Given the description of an element on the screen output the (x, y) to click on. 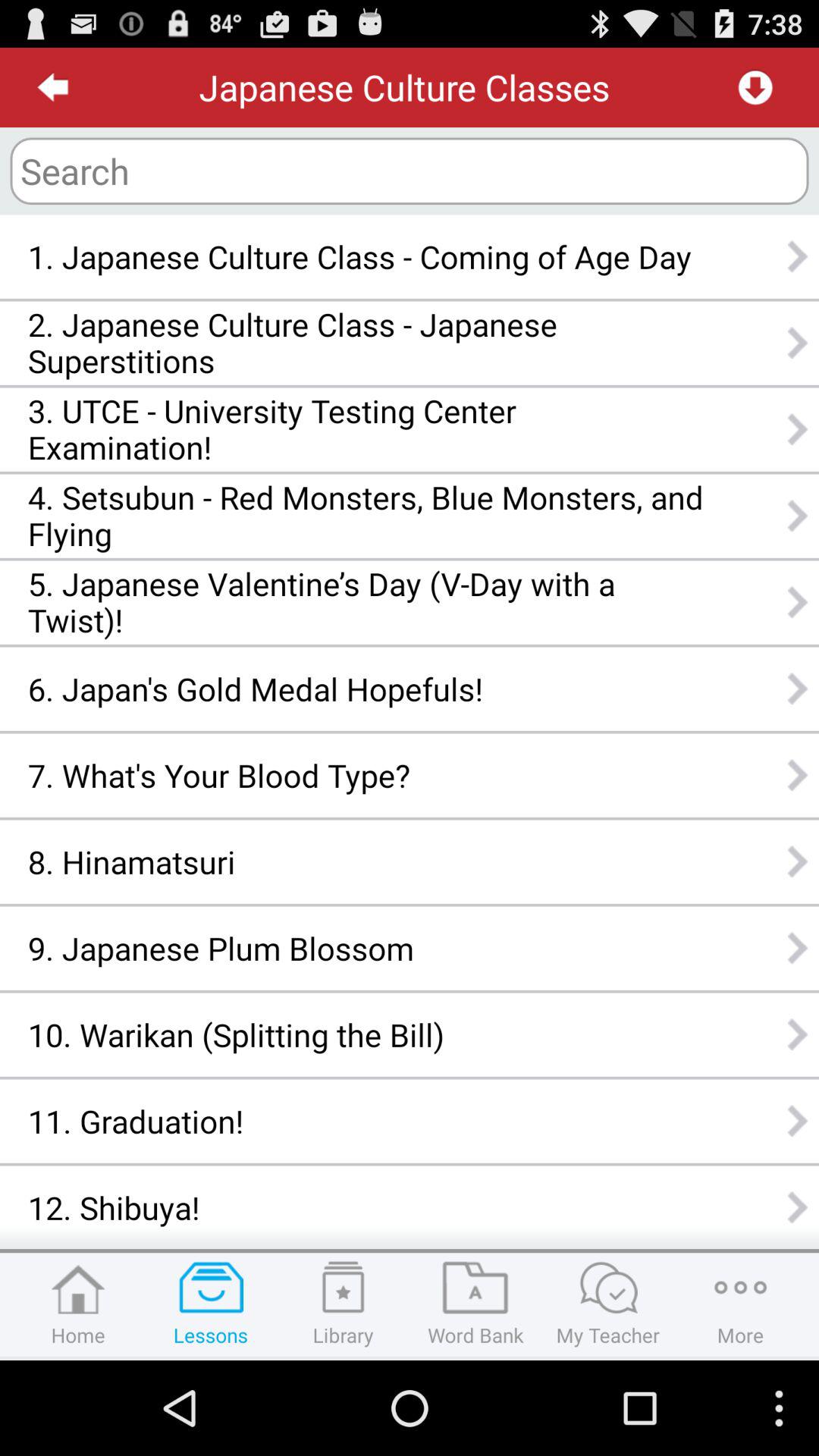
swipe to the 8. hinamatsuri item (365, 861)
